Given the description of an element on the screen output the (x, y) to click on. 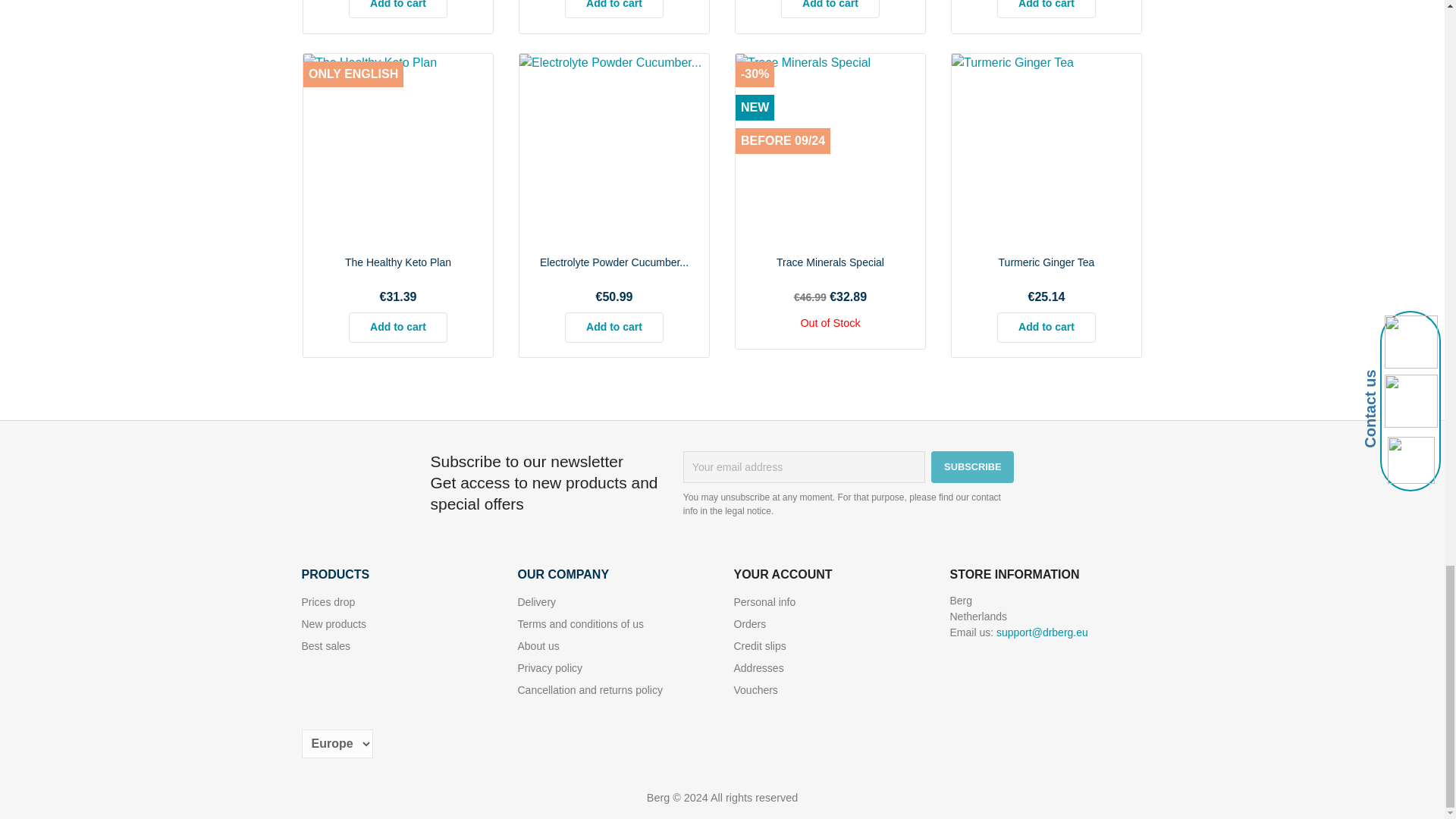
Trace Minerals Special (829, 262)
The Healthy Keto Plan (398, 262)
Electrolyte Powder Cucumber... (614, 262)
Credit slips (759, 645)
Orders (750, 623)
Add to cart (613, 9)
Vitamin delivery (536, 602)
Add to cart (397, 327)
Vouchers (755, 689)
Add to cart (613, 327)
